Given the description of an element on the screen output the (x, y) to click on. 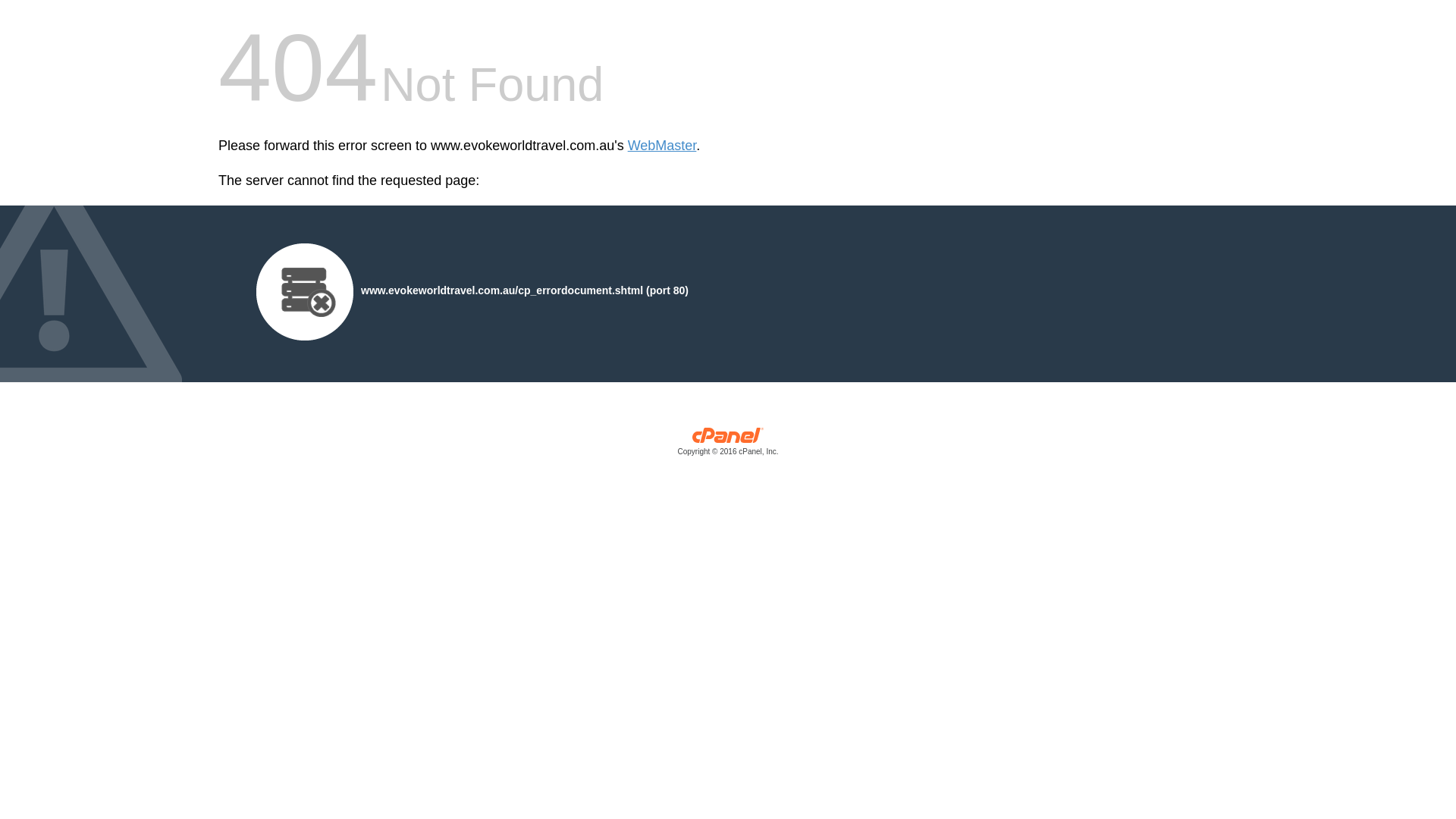
WebMaster Element type: text (661, 145)
